Given the description of an element on the screen output the (x, y) to click on. 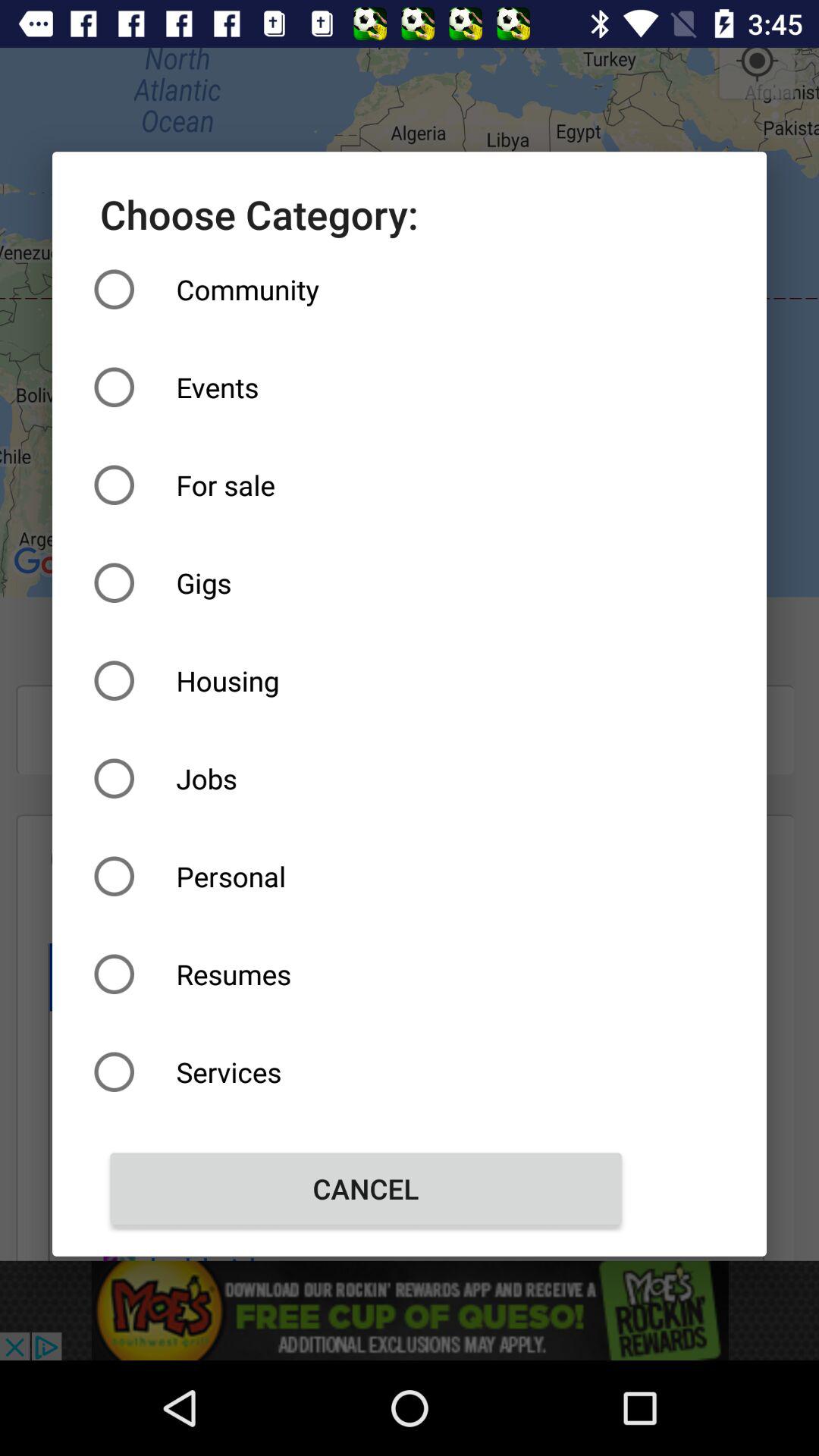
jump until the jobs item (365, 778)
